Given the description of an element on the screen output the (x, y) to click on. 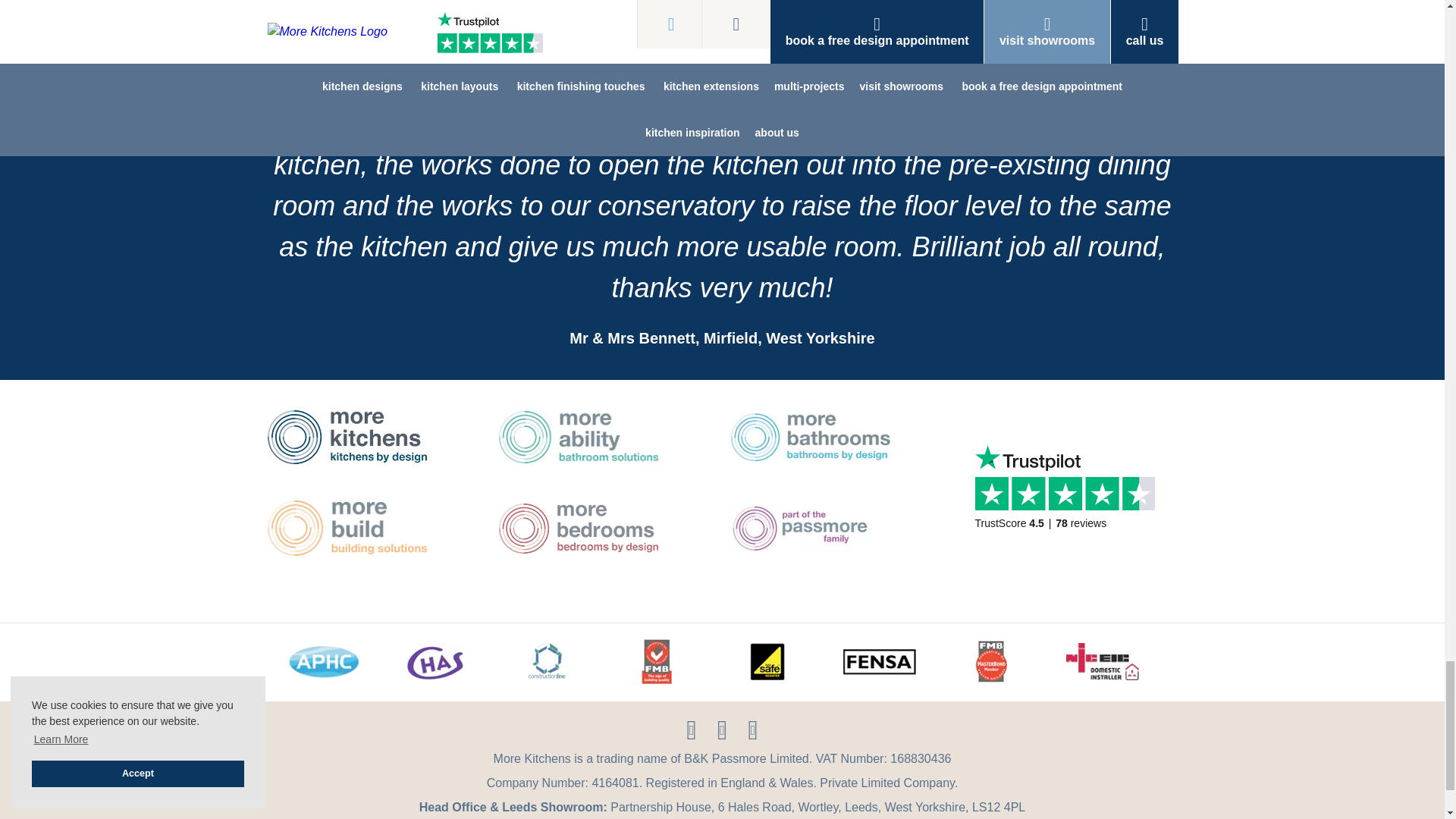
Customer reviews powered by Trustpilot (1069, 500)
